Given the description of an element on the screen output the (x, y) to click on. 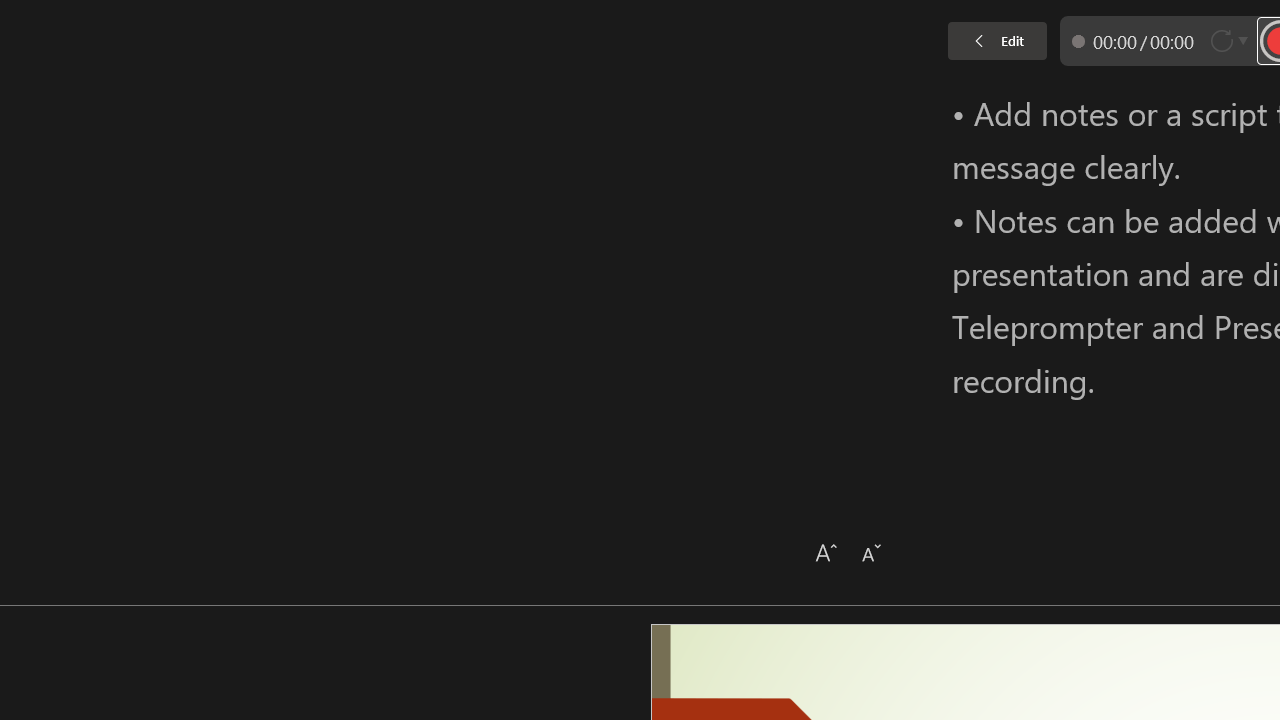
From Beginning... (158, 102)
Audio (341, 102)
Reset to Cameo (474, 102)
Clear Recording (412, 102)
